Given the description of an element on the screen output the (x, y) to click on. 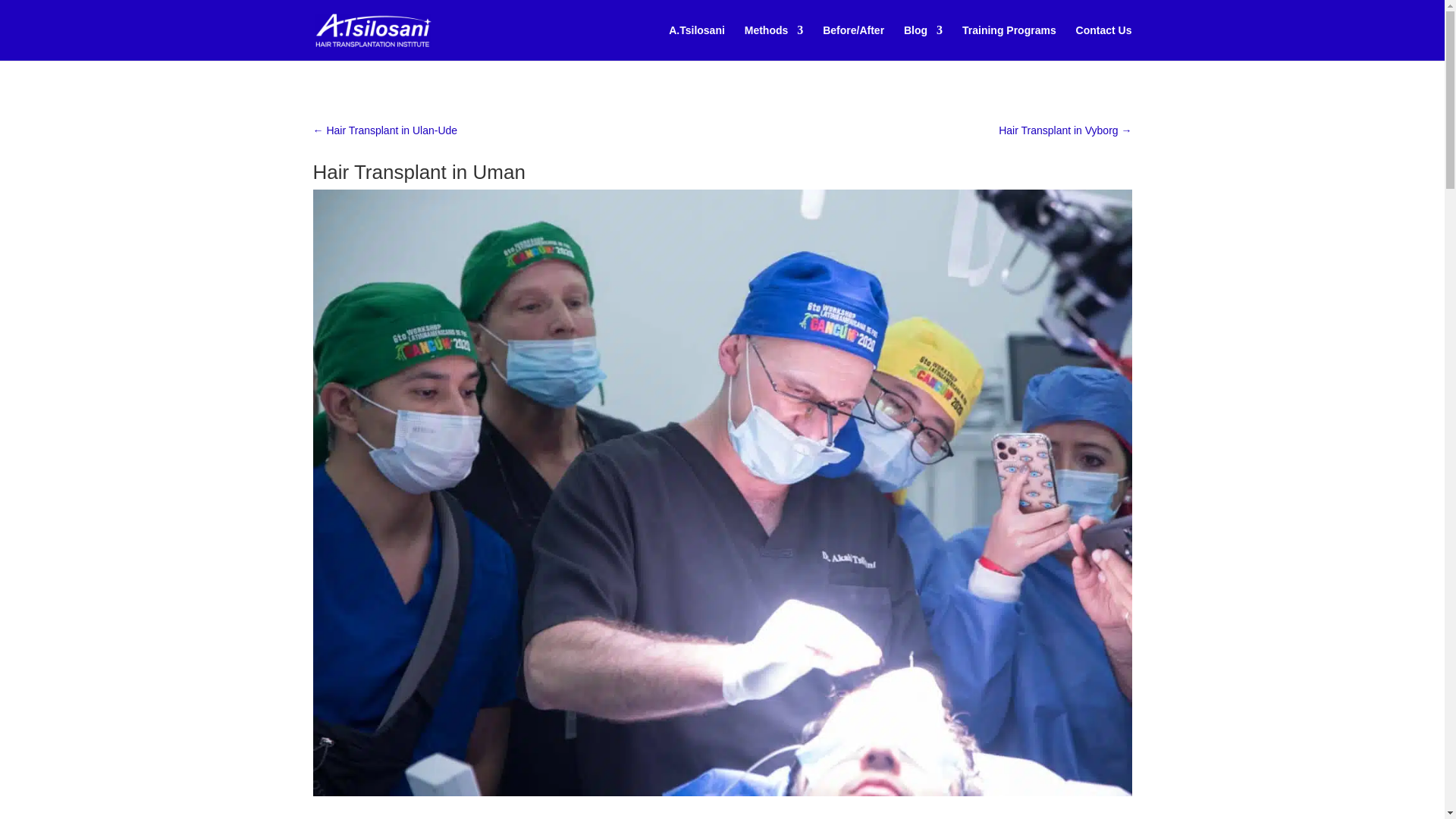
Blog (923, 42)
Contact Us (1103, 42)
A.Tsilosani (696, 42)
Tsilosani Institute Featured Images18 (722, 792)
Training Programs (1009, 42)
Methods (773, 42)
